Given the description of an element on the screen output the (x, y) to click on. 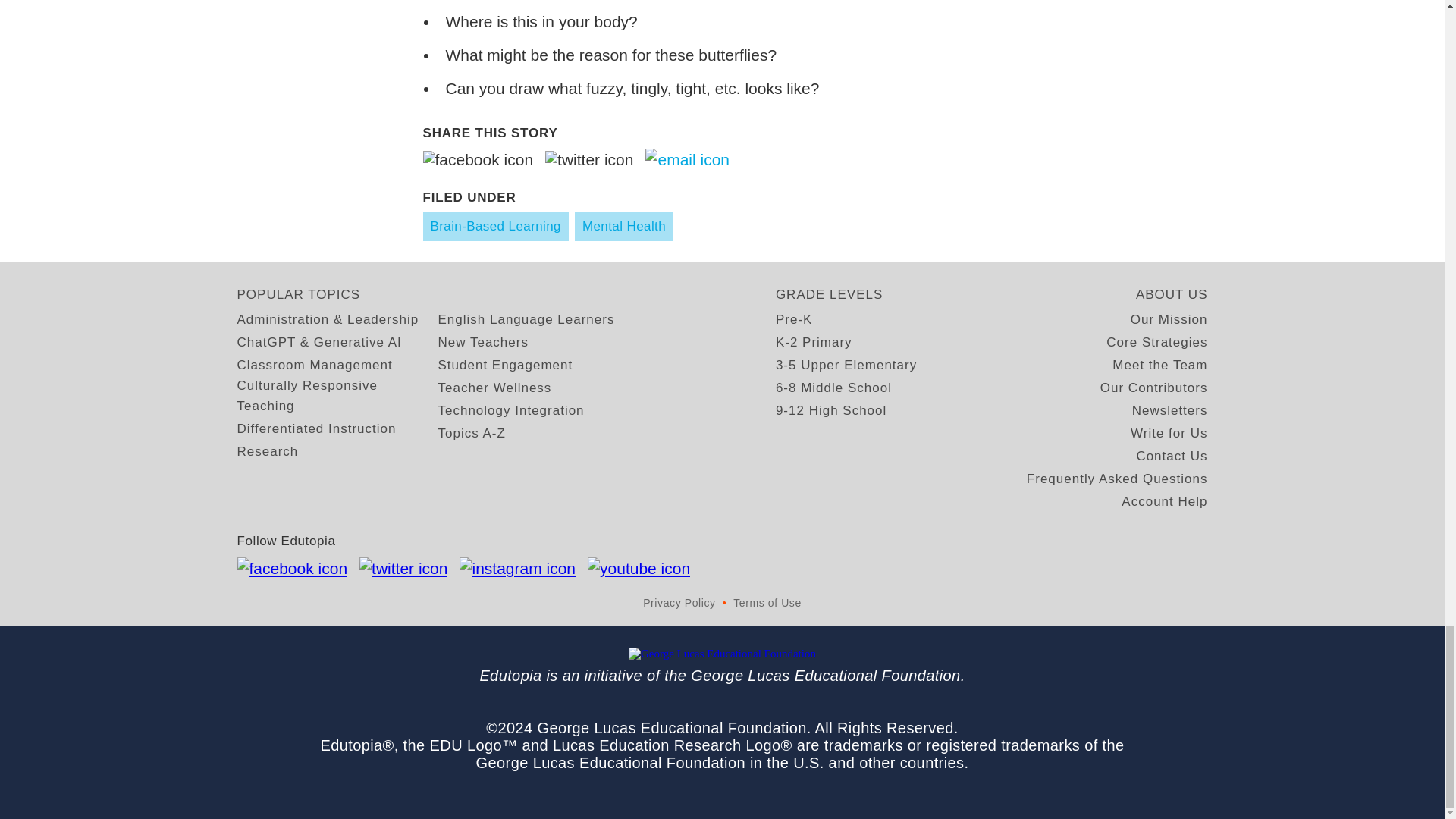
Mental Health (623, 225)
English Language Learners (526, 319)
K-2 Primary (813, 342)
Research (266, 451)
Teacher Wellness (494, 387)
Technology Integration (511, 410)
Differentiated Instruction (315, 428)
3-5 Upper Elementary (846, 364)
Classroom Management (313, 364)
Pre-K (794, 319)
New Teachers (483, 342)
Culturally Responsive Teaching (336, 395)
Topics A-Z (471, 433)
Brain-Based Learning (496, 225)
Student Engagement (505, 364)
